Given the description of an element on the screen output the (x, y) to click on. 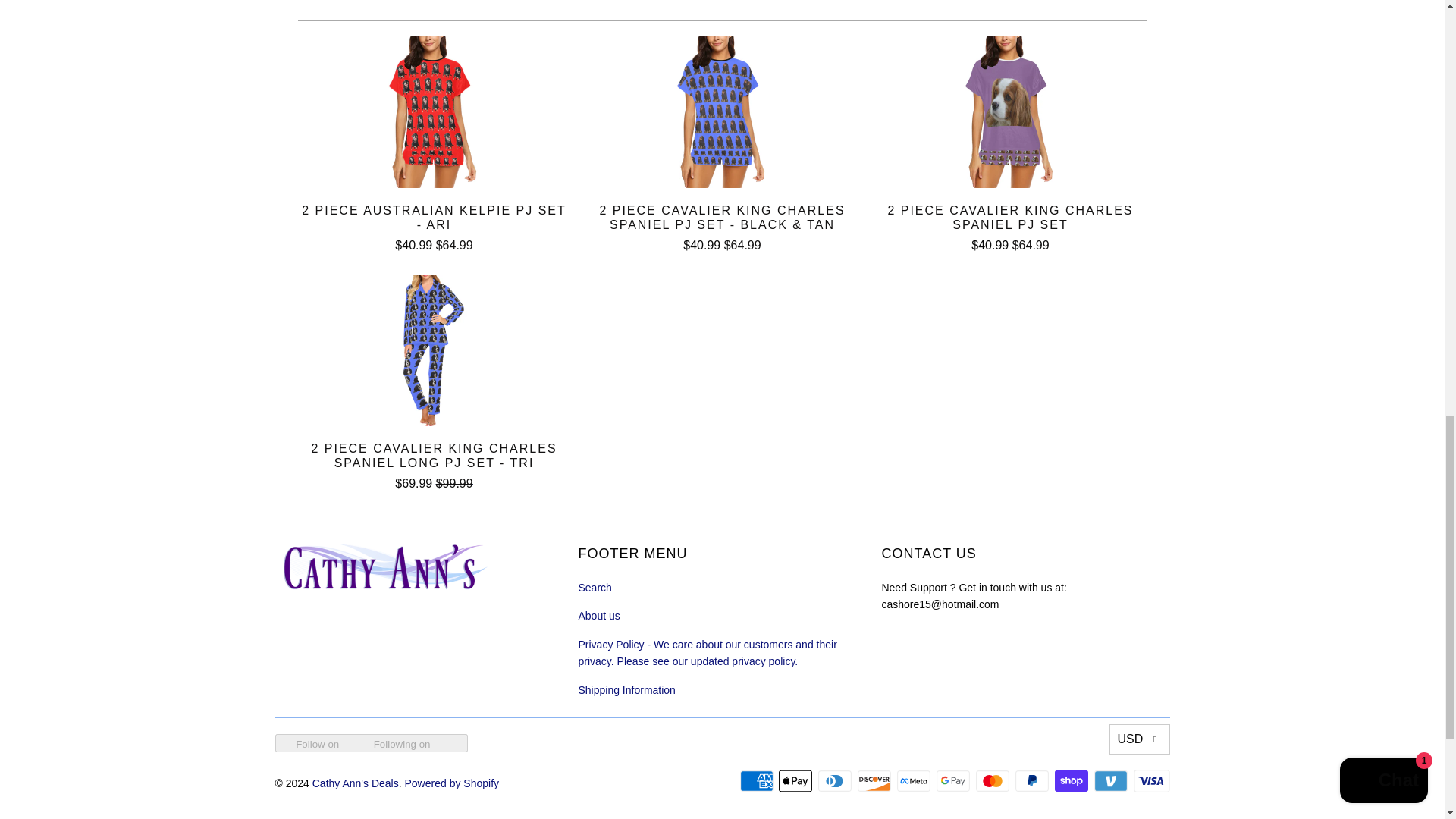
Meta Pay (914, 780)
Google Pay (954, 780)
Mastercard (993, 780)
Shop Pay (1072, 780)
Visa (1150, 780)
American Express (757, 780)
PayPal (1032, 780)
Apple Pay (796, 780)
Discover (875, 780)
Venmo (1112, 780)
Diners Club (836, 780)
